Given the description of an element on the screen output the (x, y) to click on. 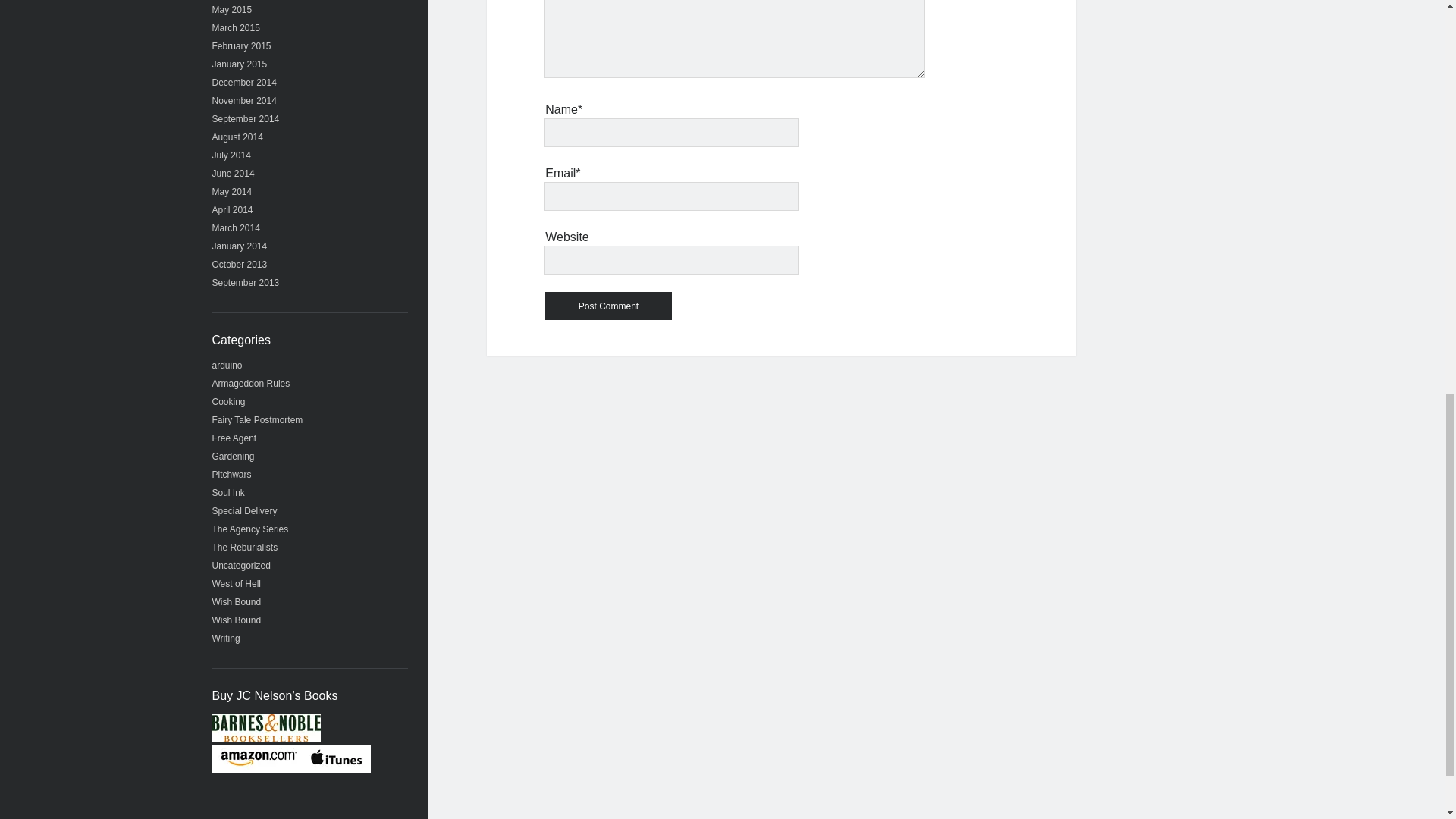
December 2014 (244, 81)
March 2015 (236, 27)
Post Comment (607, 305)
February 2015 (241, 45)
November 2014 (244, 100)
May 2015 (231, 9)
January 2015 (239, 63)
September 2014 (245, 118)
